Given the description of an element on the screen output the (x, y) to click on. 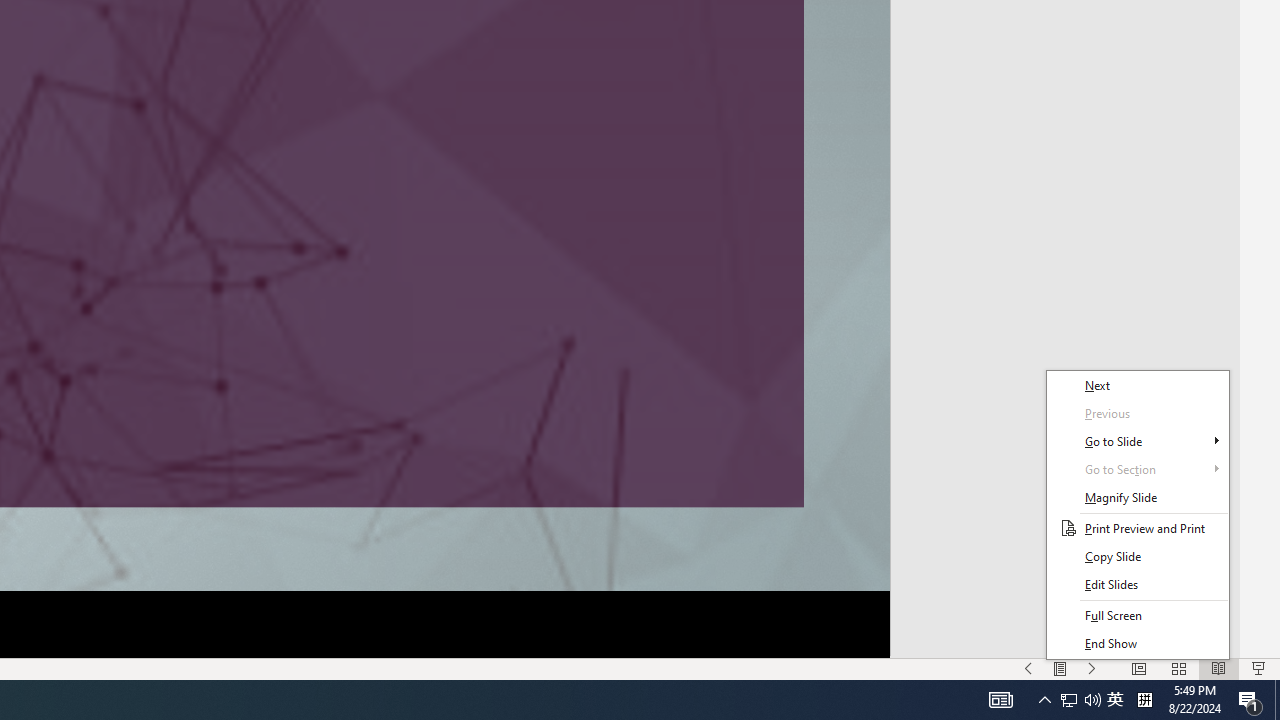
Edit Slides (1137, 584)
Full Screen (1137, 615)
End Show (1137, 644)
Go to Slide (1137, 441)
Copy Slide (1137, 556)
